Given the description of an element on the screen output the (x, y) to click on. 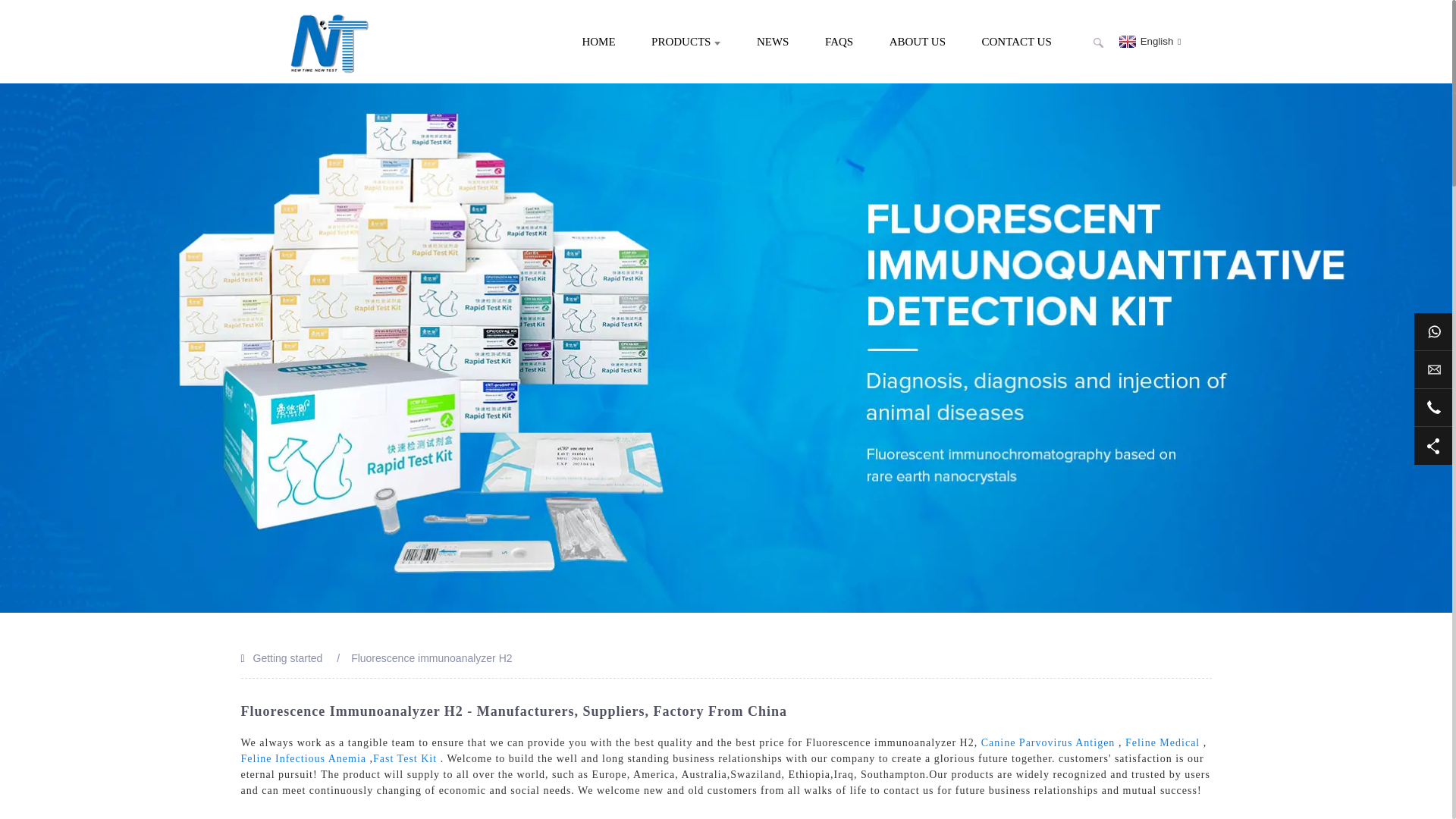
English (1147, 41)
HOME (597, 41)
Fast Test Kit (404, 758)
Fast Test Kit (404, 758)
FAQS (838, 41)
Feline Medical (1162, 742)
PRODUCTS (685, 41)
CONTACT US (1015, 41)
NEWS (772, 41)
Feline Infectious Anemia (303, 758)
